Given the description of an element on the screen output the (x, y) to click on. 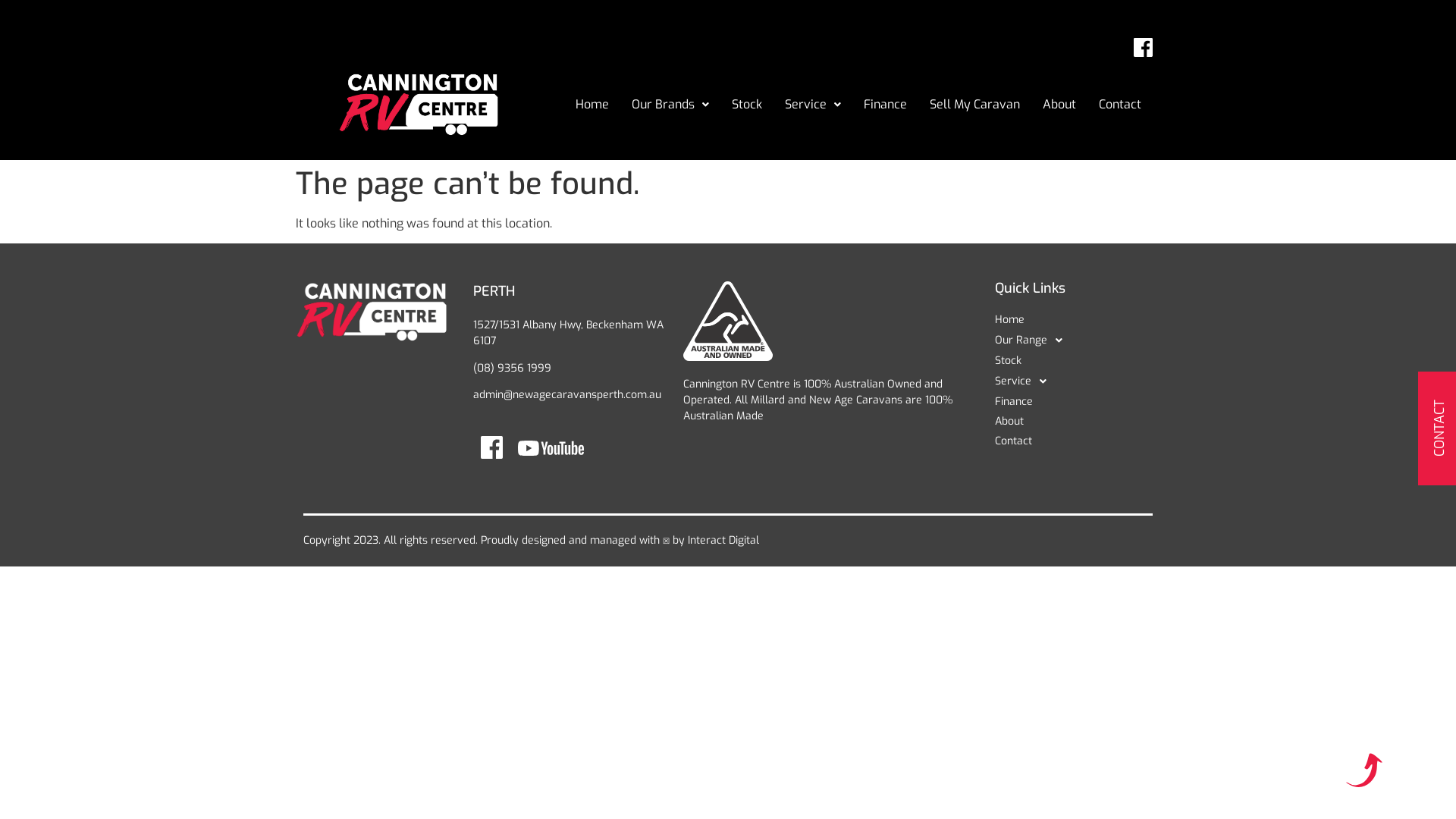
Contact Element type: text (1077, 441)
Home Element type: text (1077, 319)
Finance Element type: text (885, 104)
Stock Element type: text (1077, 360)
admin@newagecaravansperth.com.au Element type: text (572, 394)
Home Element type: text (592, 104)
Stock Element type: text (746, 104)
About Element type: text (1077, 421)
Service Element type: text (1077, 381)
Finance Element type: text (1077, 401)
Contact Element type: text (1119, 104)
1527/1531 Albany Hwy, Beckenham WA 6107 Element type: text (572, 332)
Sell My Caravan Element type: text (974, 104)
(08) 9356 1999 Element type: text (572, 368)
Our Brands Element type: text (670, 104)
Interact Digital Element type: text (723, 540)
About Element type: text (1059, 104)
Our Range Element type: text (1077, 340)
Service Element type: text (812, 104)
